Given the description of an element on the screen output the (x, y) to click on. 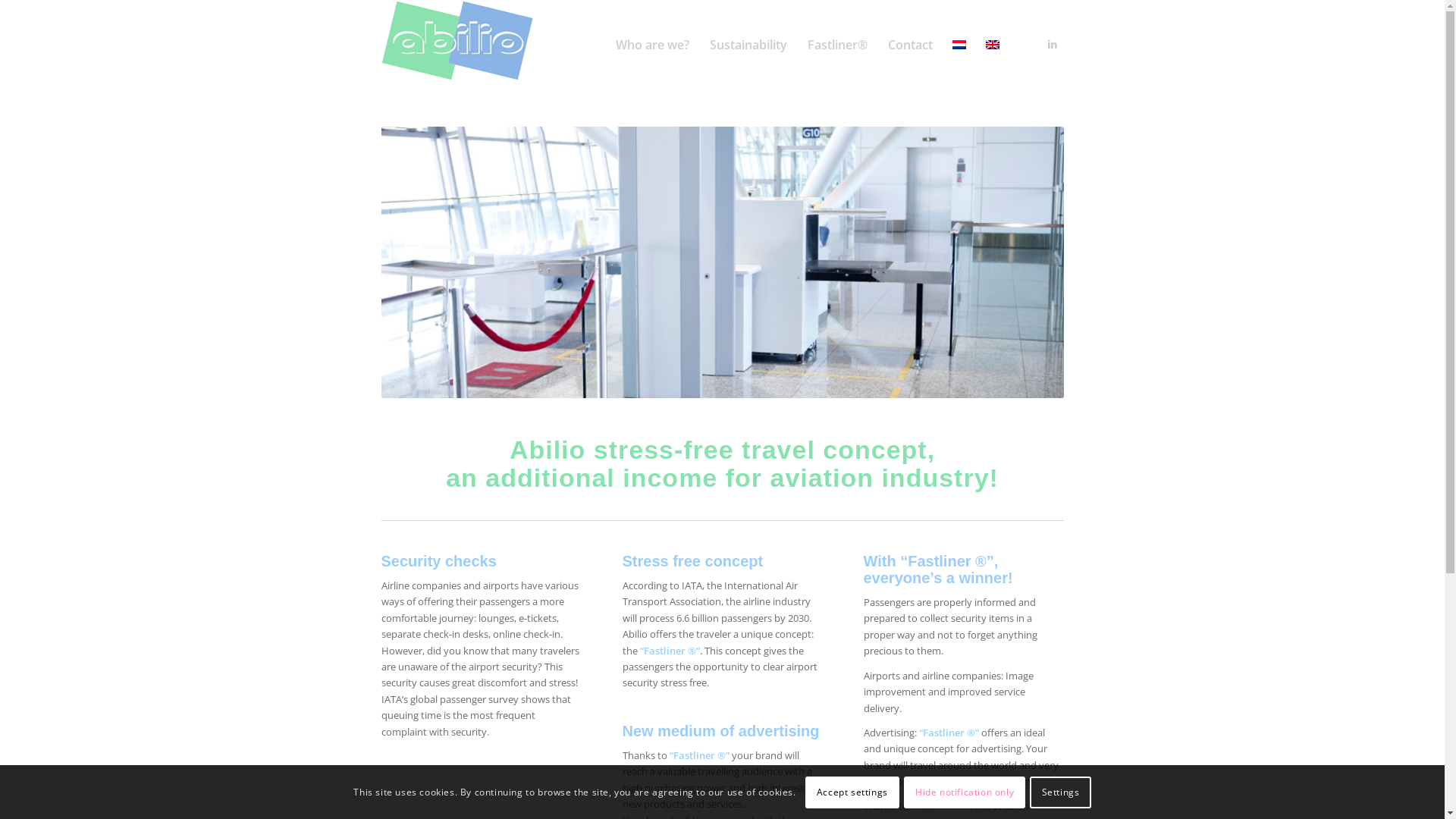
Accept settings Element type: text (852, 791)
bagagecontrole_bovenaazicht Element type: hover (721, 262)
LinkedIn Element type: hover (1051, 43)
Hide notification only Element type: text (964, 791)
Who are we? Element type: text (651, 44)
English Element type: hover (992, 44)
Contact Element type: text (908, 44)
logo-abilio Element type: hover (456, 40)
Settings Element type: text (1059, 791)
Nederlands Element type: hover (959, 44)
logo-abilio Element type: hover (456, 44)
Sustainability Element type: text (748, 44)
